Given the description of an element on the screen output the (x, y) to click on. 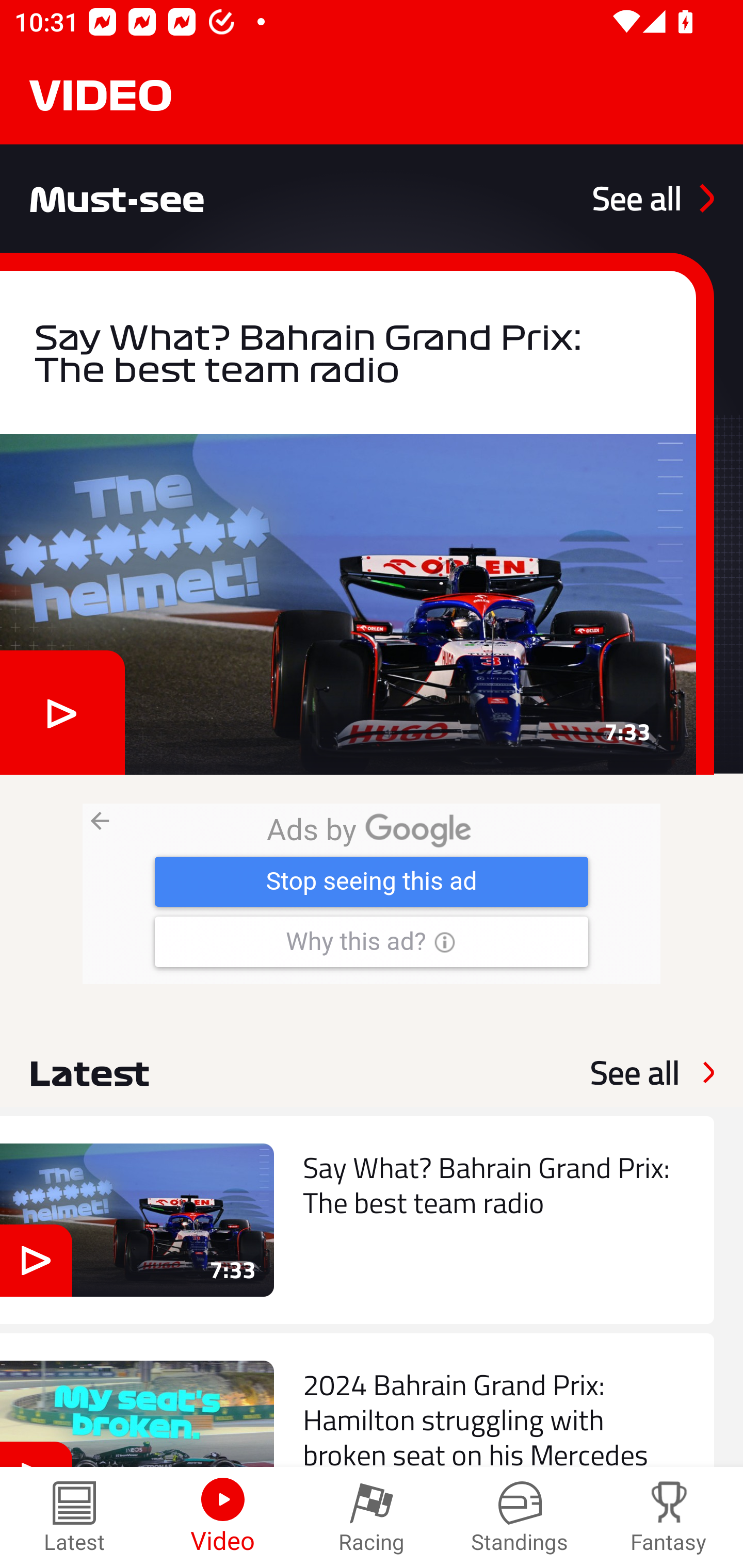
See all (653, 198)
See all (634, 1072)
Latest (74, 1517)
Racing (371, 1517)
Standings (519, 1517)
Fantasy (668, 1517)
